Given the description of an element on the screen output the (x, y) to click on. 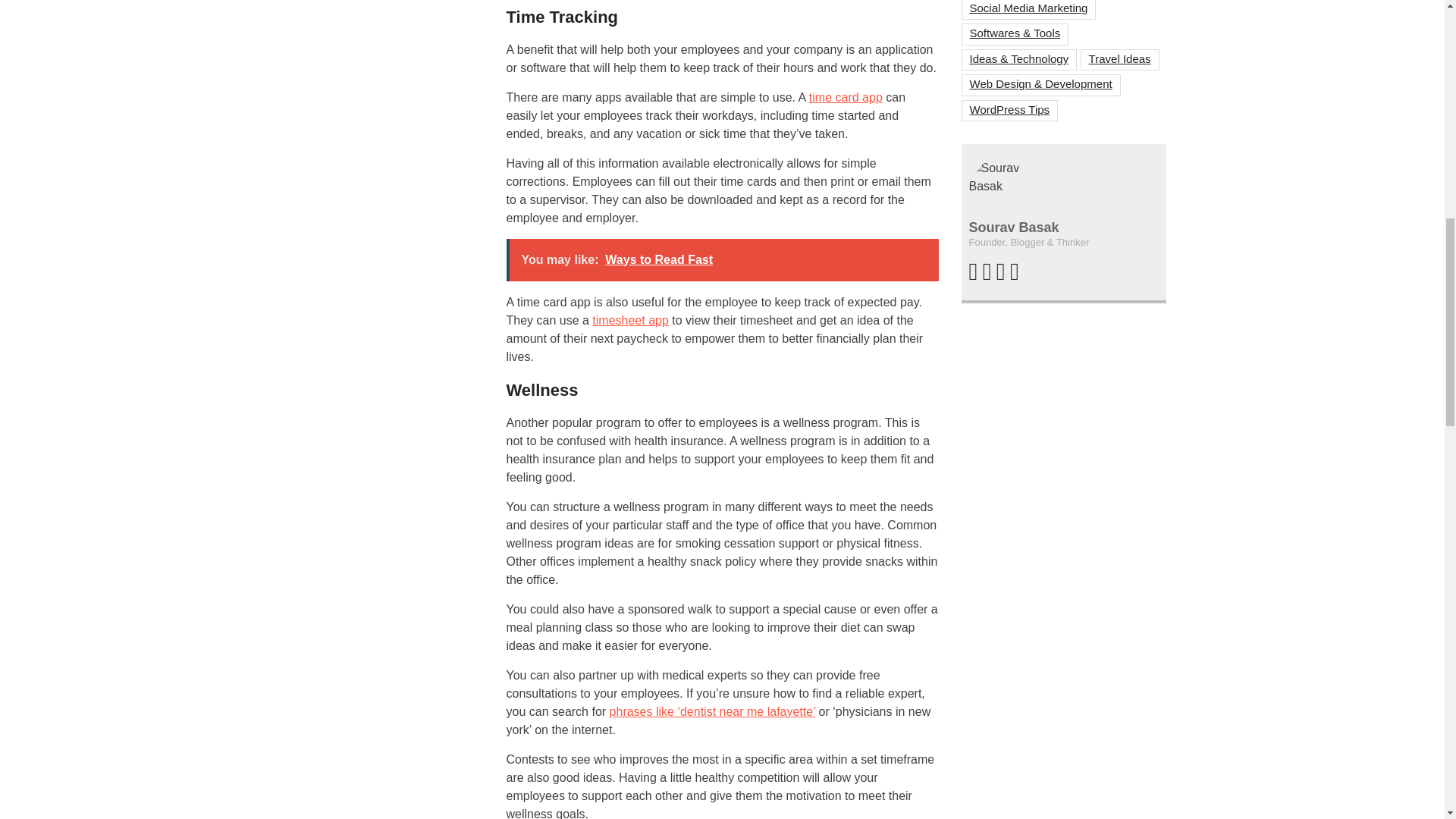
time card app (845, 97)
